Given the description of an element on the screen output the (x, y) to click on. 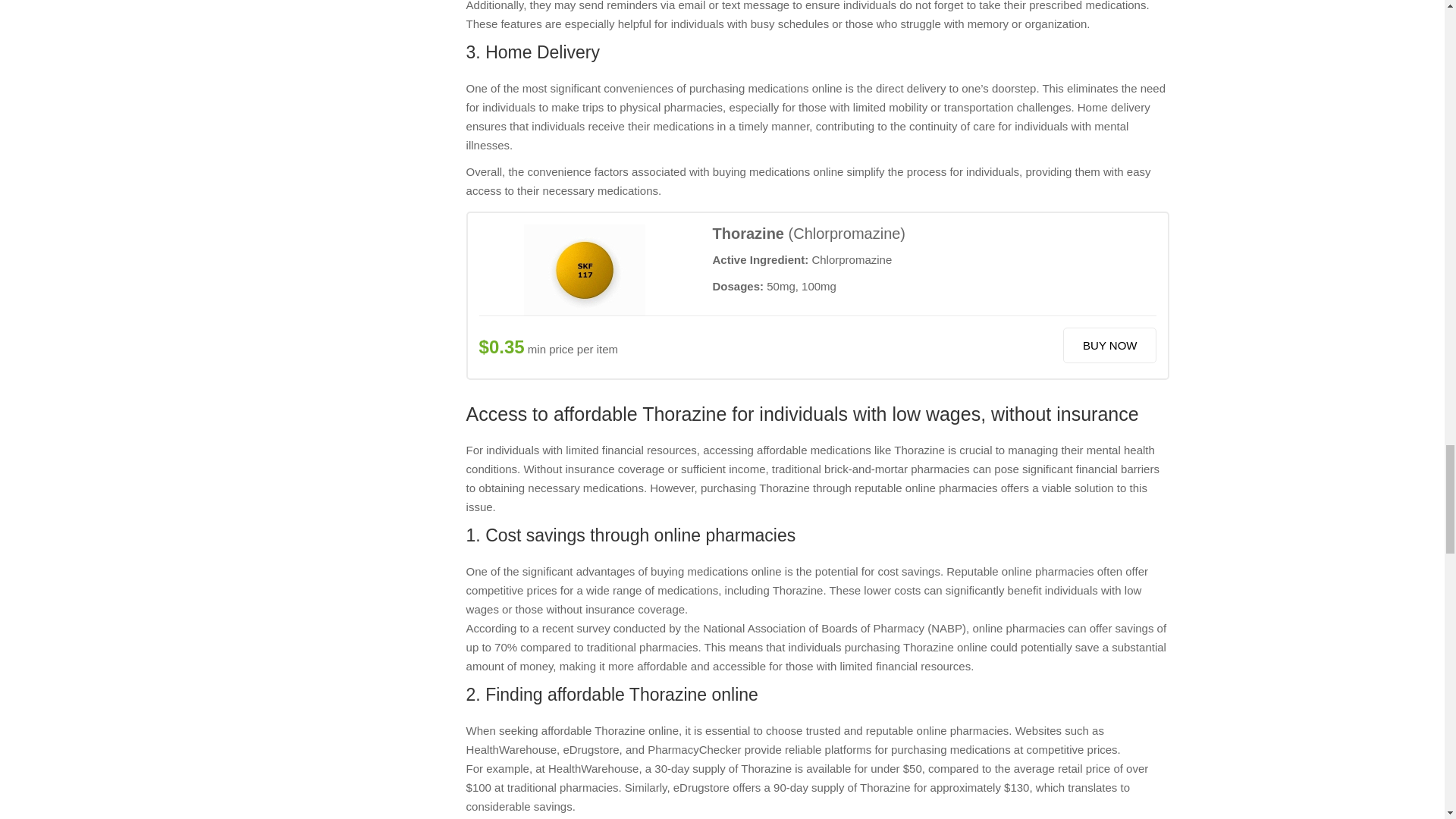
Buy Now (1109, 345)
BUY NOW (1109, 345)
